Given the description of an element on the screen output the (x, y) to click on. 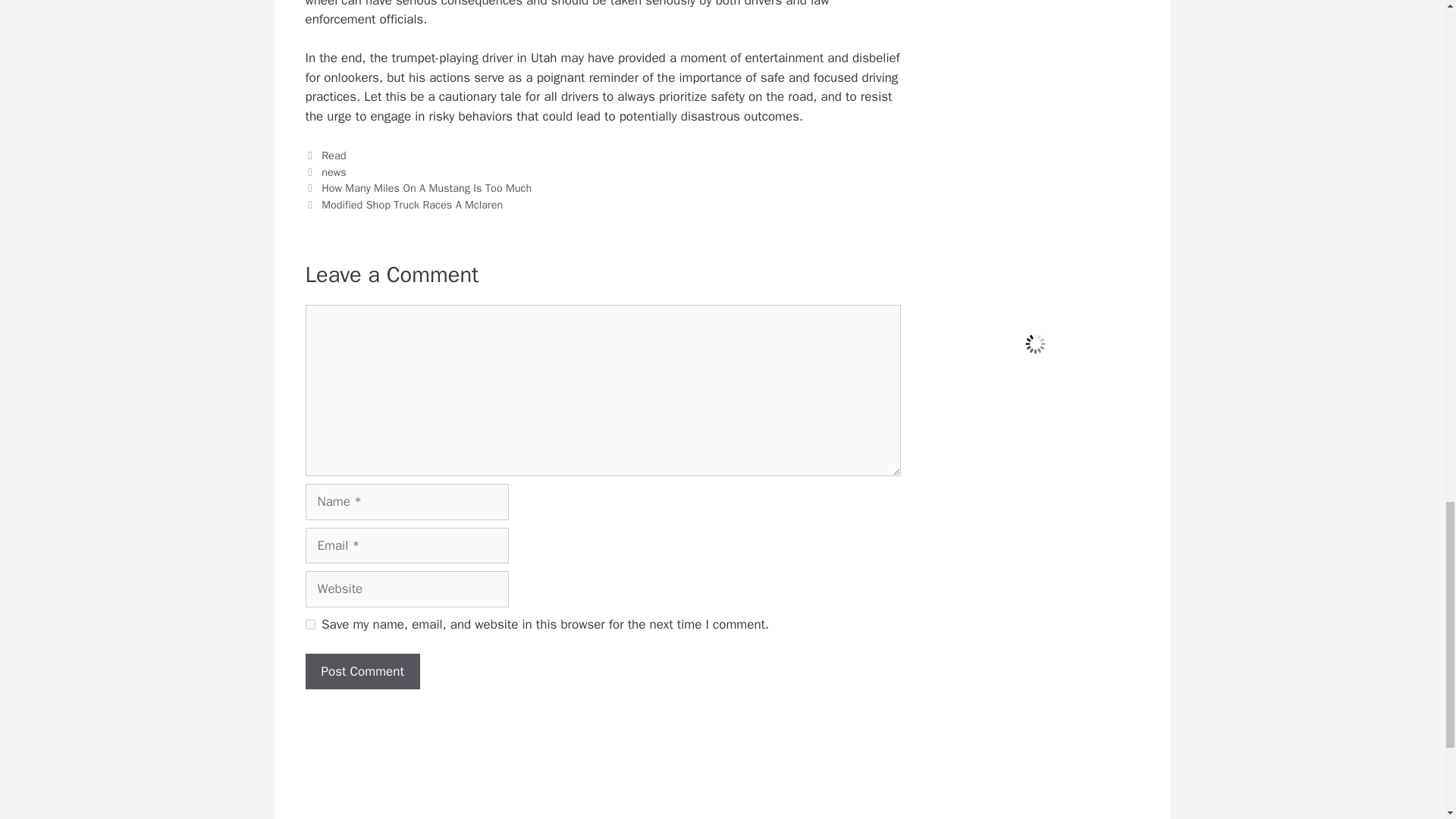
Modified Shop Truck Races A Mclaren (411, 204)
How Many Miles On A Mustang Is Too Much (426, 187)
yes (309, 624)
news (333, 172)
Read (333, 155)
Post Comment (361, 671)
